Given the description of an element on the screen output the (x, y) to click on. 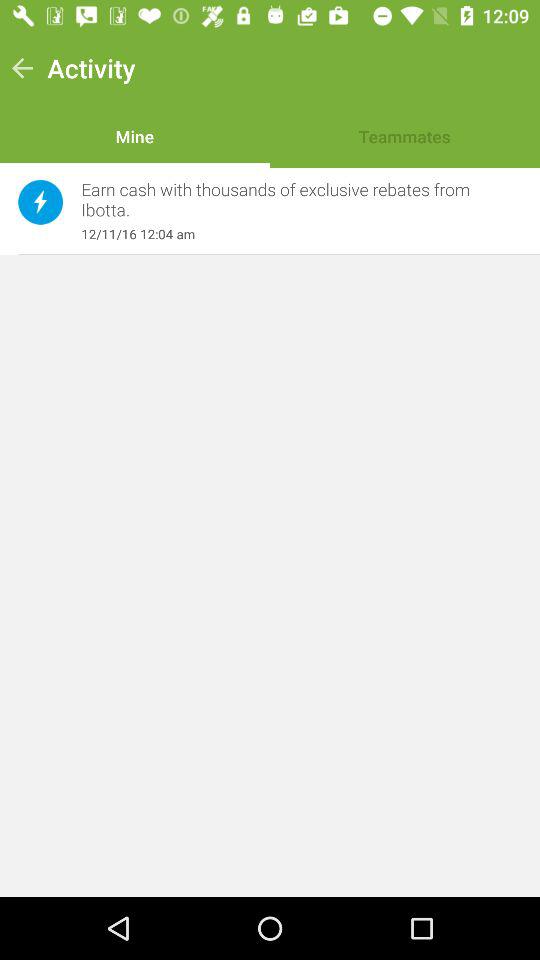
turn off the item below earn cash with icon (291, 234)
